Given the description of an element on the screen output the (x, y) to click on. 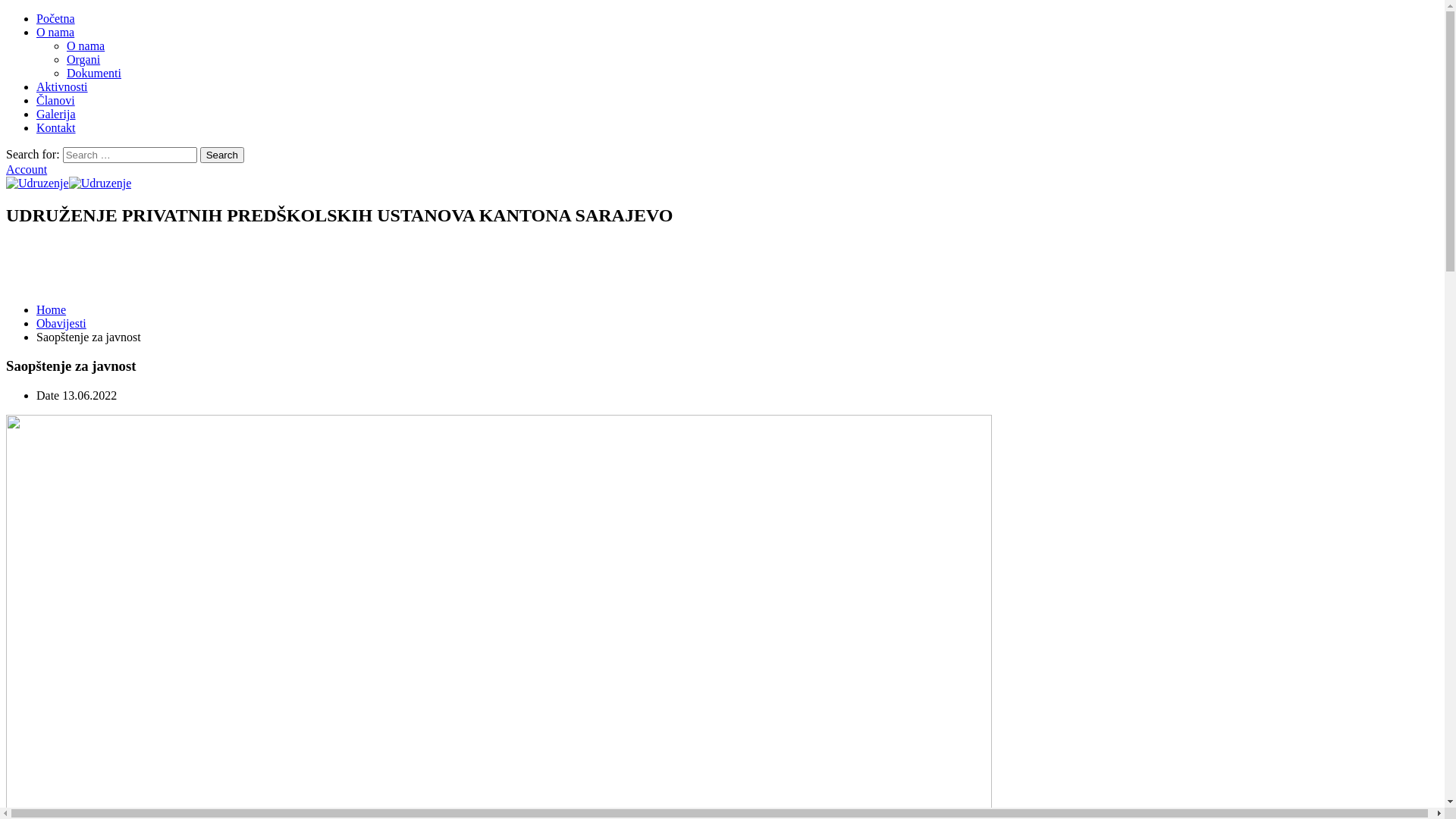
Kontakt Element type: text (55, 127)
Aktivnosti Element type: text (61, 86)
Account Element type: text (26, 169)
Search Element type: text (222, 155)
Obavijesti Element type: text (61, 322)
Home Element type: text (50, 309)
O nama Element type: text (55, 31)
O nama Element type: text (85, 45)
Galerija Element type: text (55, 113)
Udruzenje - My WordPress Blog Element type: hover (37, 182)
Organi Element type: text (83, 59)
Dokumenti Element type: text (93, 72)
